Given the description of an element on the screen output the (x, y) to click on. 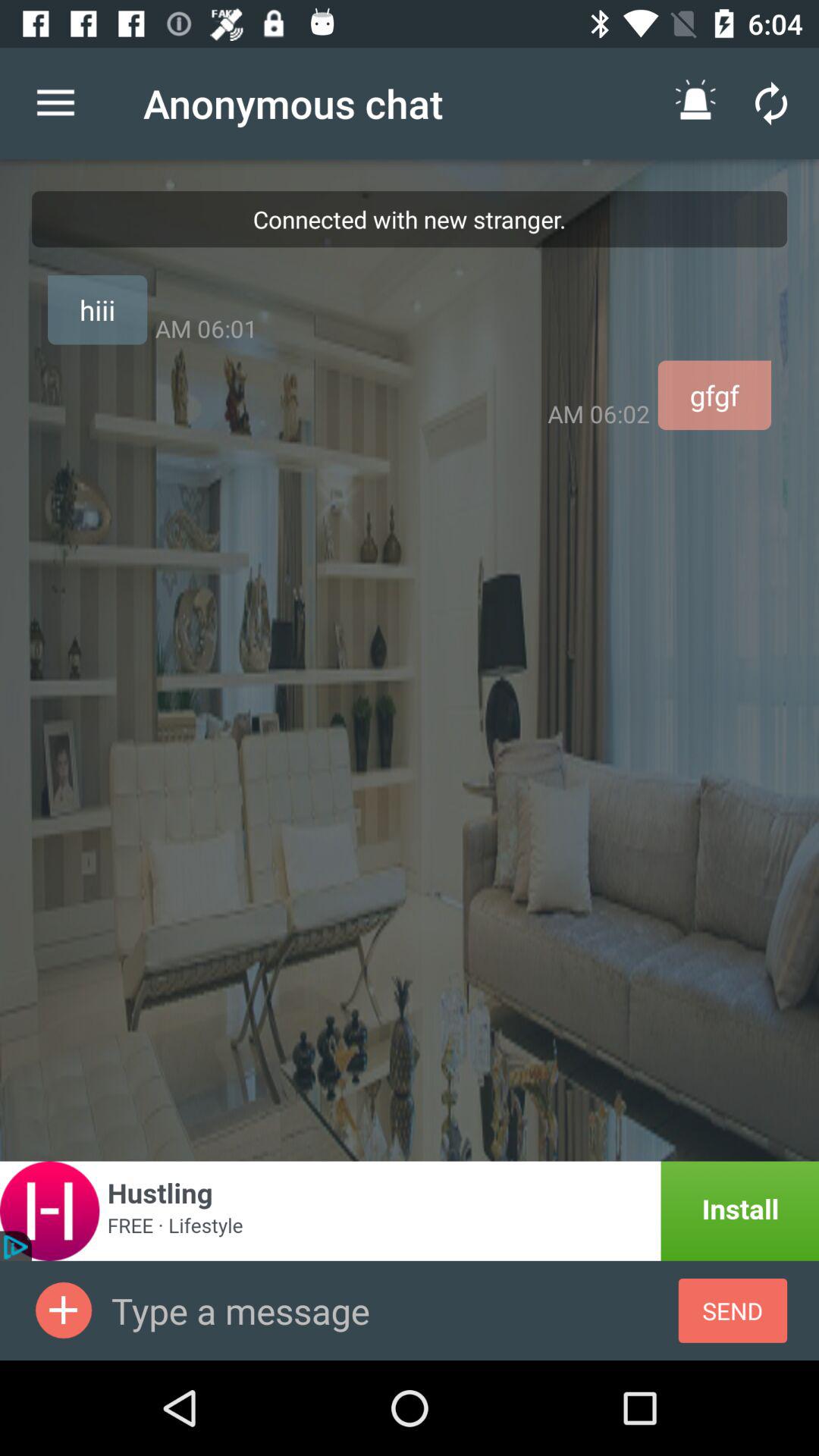
go to advertisement (409, 1210)
